Given the description of an element on the screen output the (x, y) to click on. 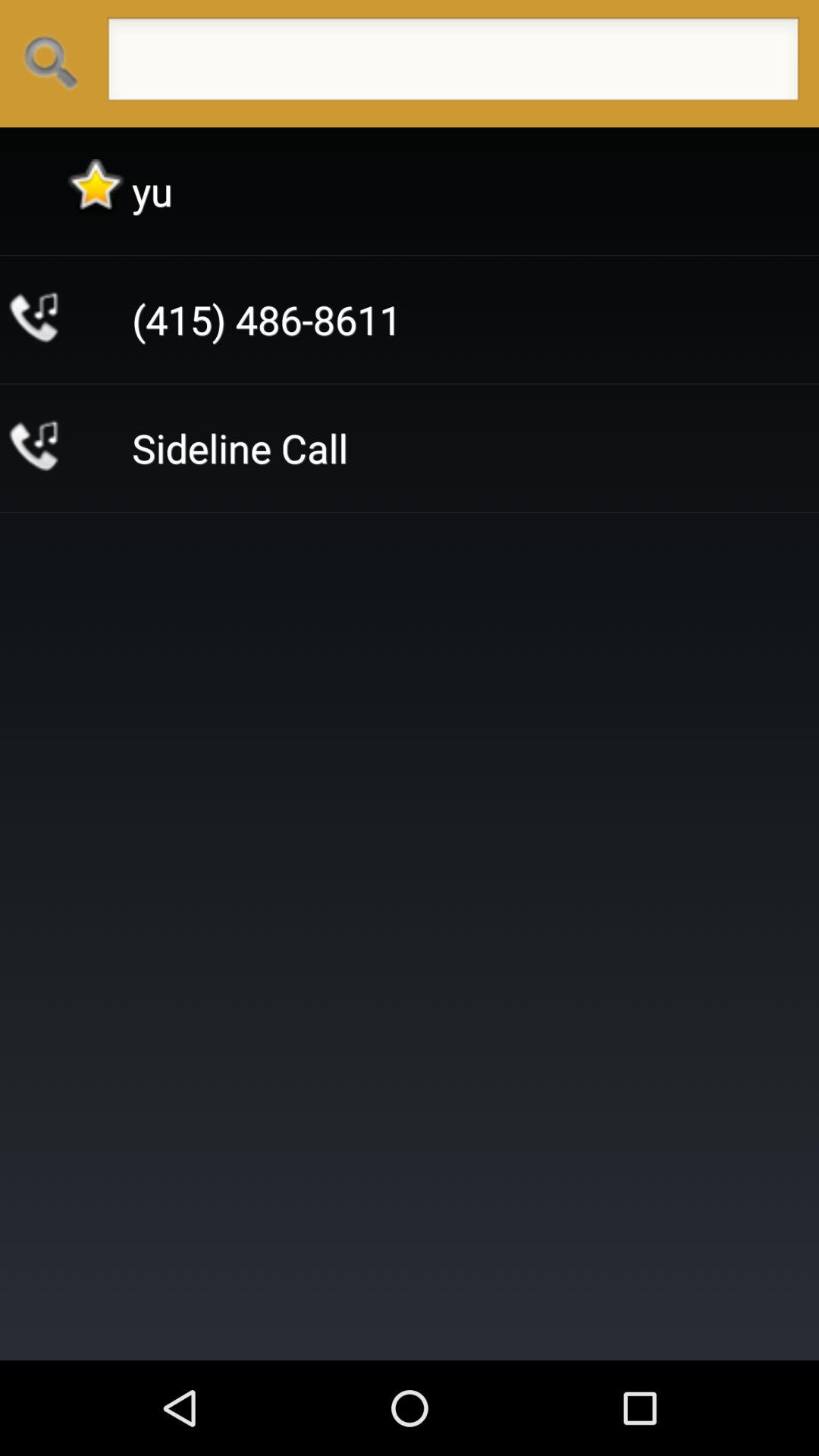
tap the icon next to the yu icon (95, 190)
